Given the description of an element on the screen output the (x, y) to click on. 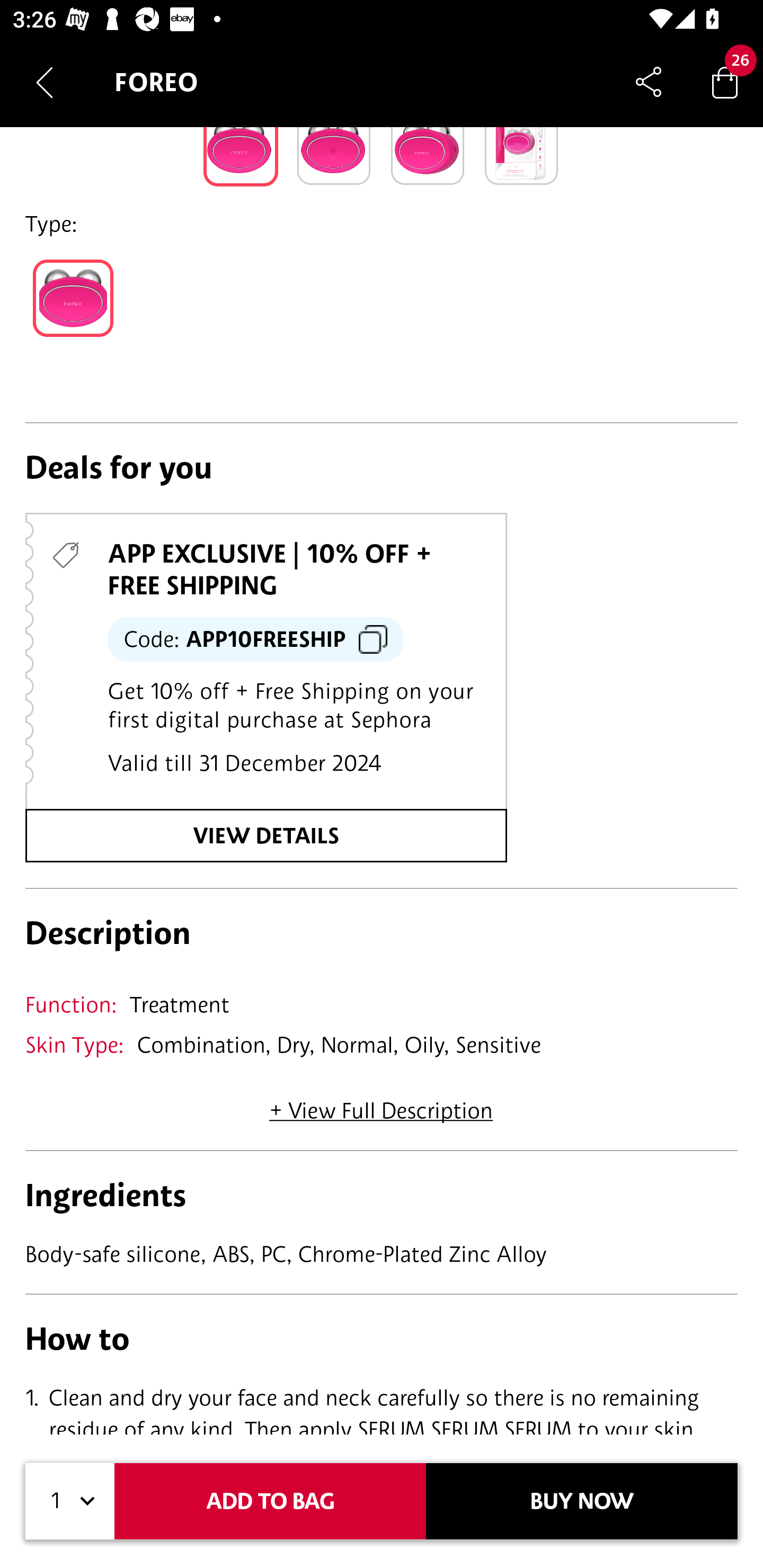
Navigate up (44, 82)
Share (648, 81)
Bag (724, 81)
VIEW DETAILS (266, 835)
+ View Full Description (380, 1104)
1 (69, 1500)
ADD TO BAG (269, 1500)
BUY NOW (581, 1500)
